Given the description of an element on the screen output the (x, y) to click on. 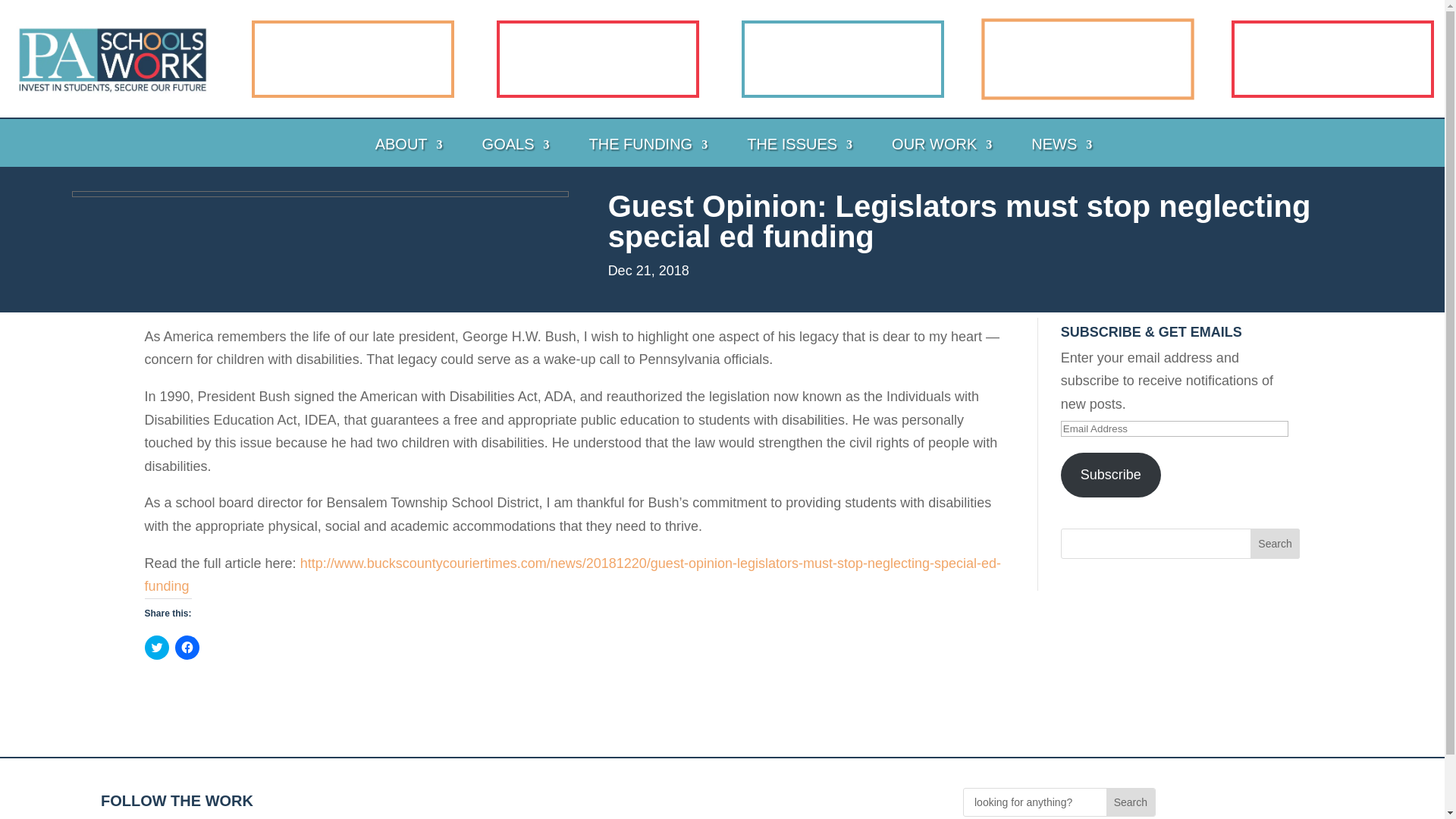
GOALS (505, 155)
Search (1275, 543)
Search (1130, 801)
ABOUT (397, 155)
Click to share on Facebook (186, 647)
NEWS (1050, 155)
THE FUNDING (636, 155)
OUR WORK (930, 155)
Search (1275, 543)
Subscribe (1110, 474)
